Given the description of an element on the screen output the (x, y) to click on. 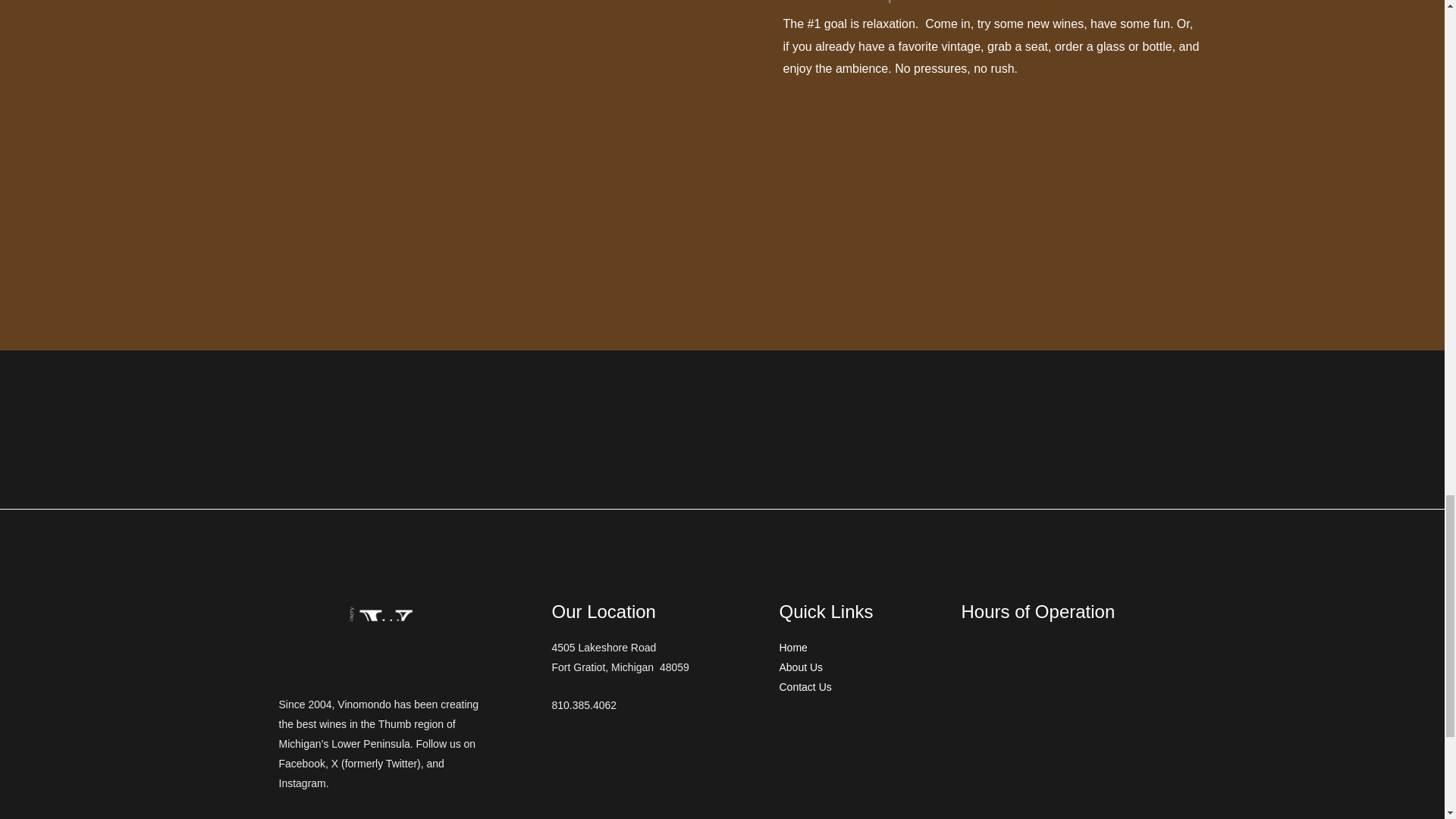
4505 Lakeshore Road, Fort Gratiot, MI 48059 (654, 778)
About Us (858, 668)
Home (858, 648)
Contact Us (858, 687)
